Given the description of an element on the screen output the (x, y) to click on. 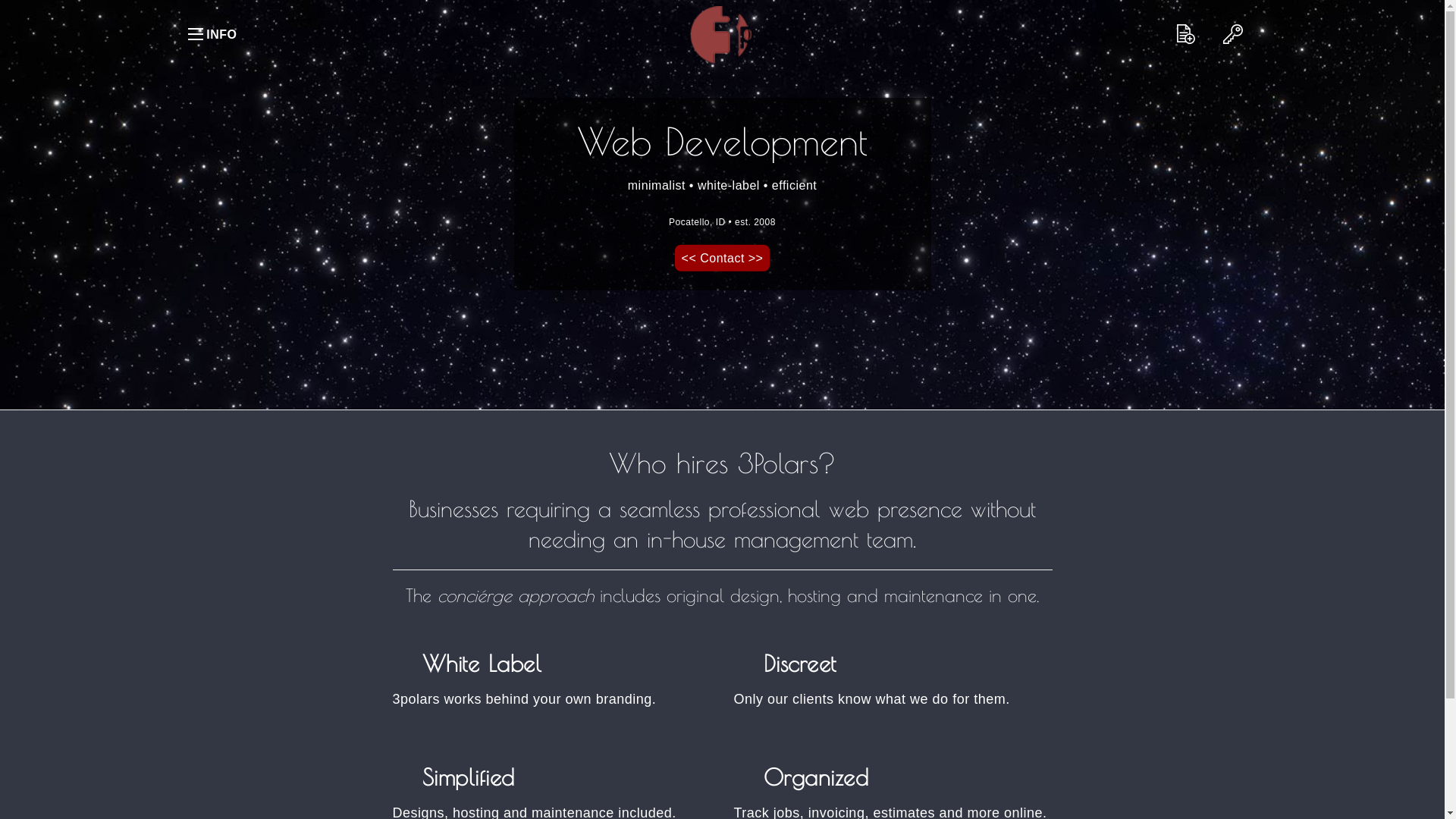
INFO
Toggle Button Element type: text (195, 34)
<< Contact >> Element type: text (722, 257)
